Given the description of an element on the screen output the (x, y) to click on. 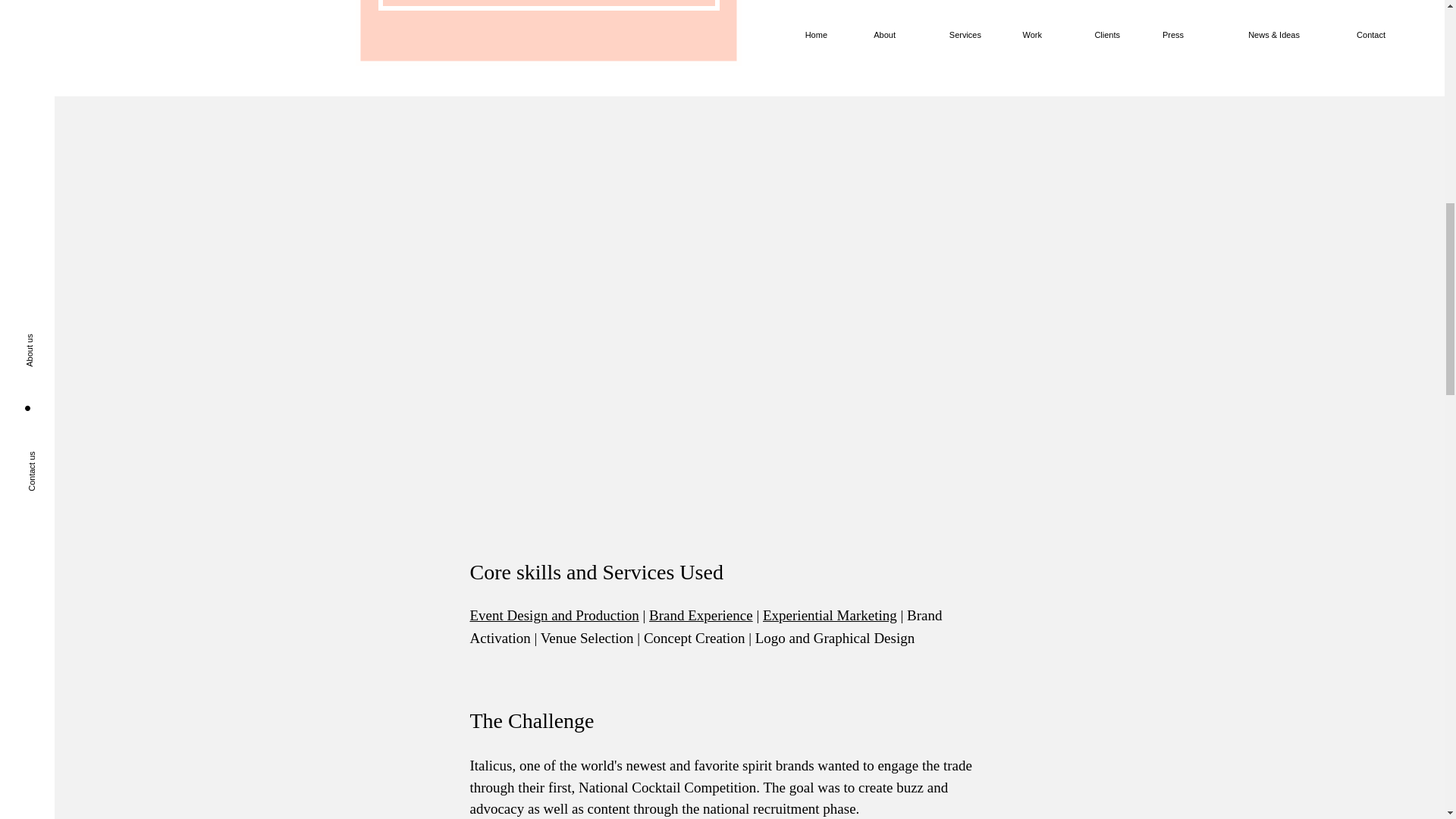
Event Design and Production (554, 615)
Experiential Marketing (829, 615)
Brand Experience (700, 615)
